Given the description of an element on the screen output the (x, y) to click on. 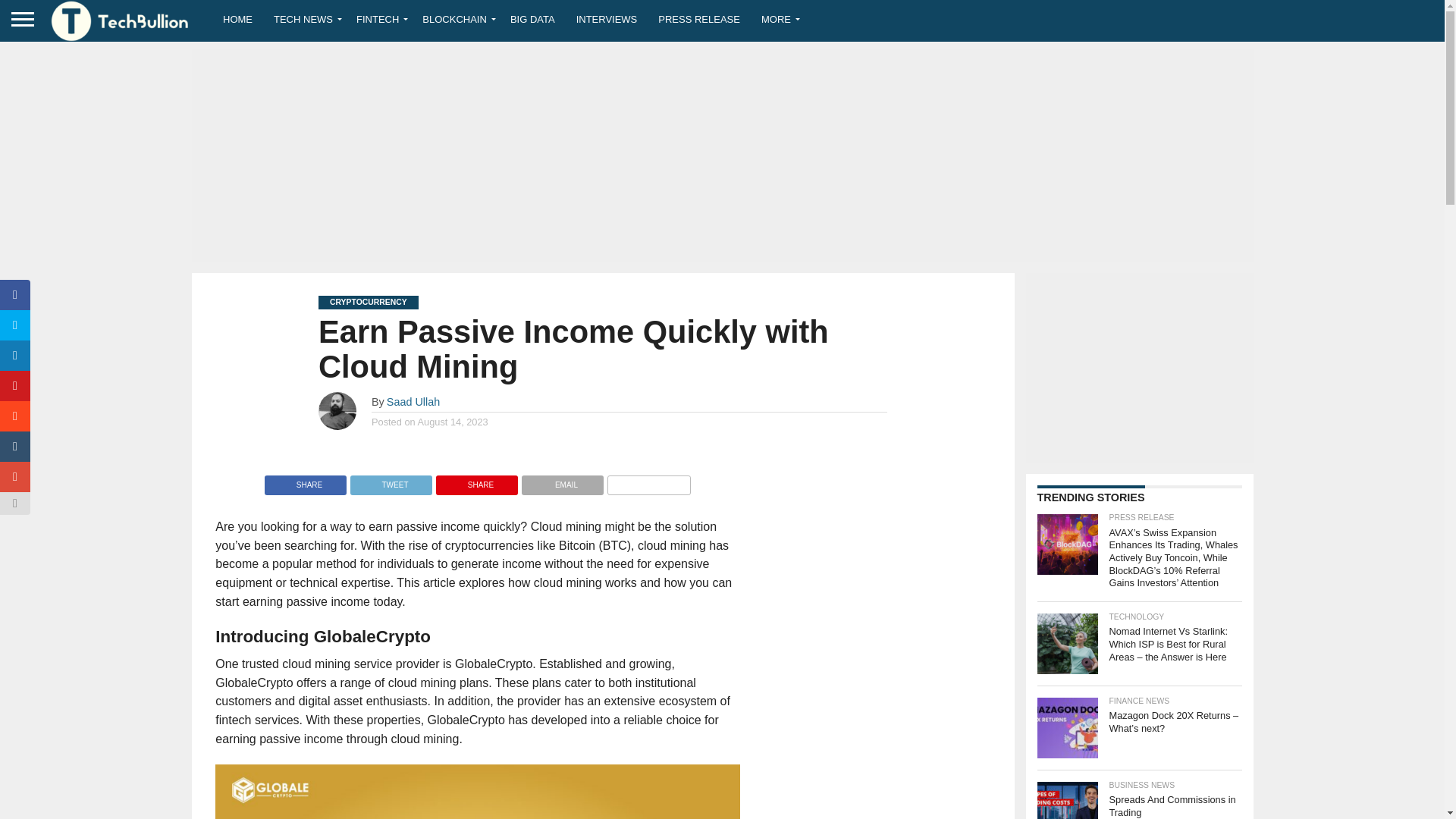
Tweet This Post (390, 481)
Share on Facebook (305, 481)
Posts by Saad Ullah (413, 401)
Pin This Post (476, 481)
Advertisement (1138, 367)
